Given the description of an element on the screen output the (x, y) to click on. 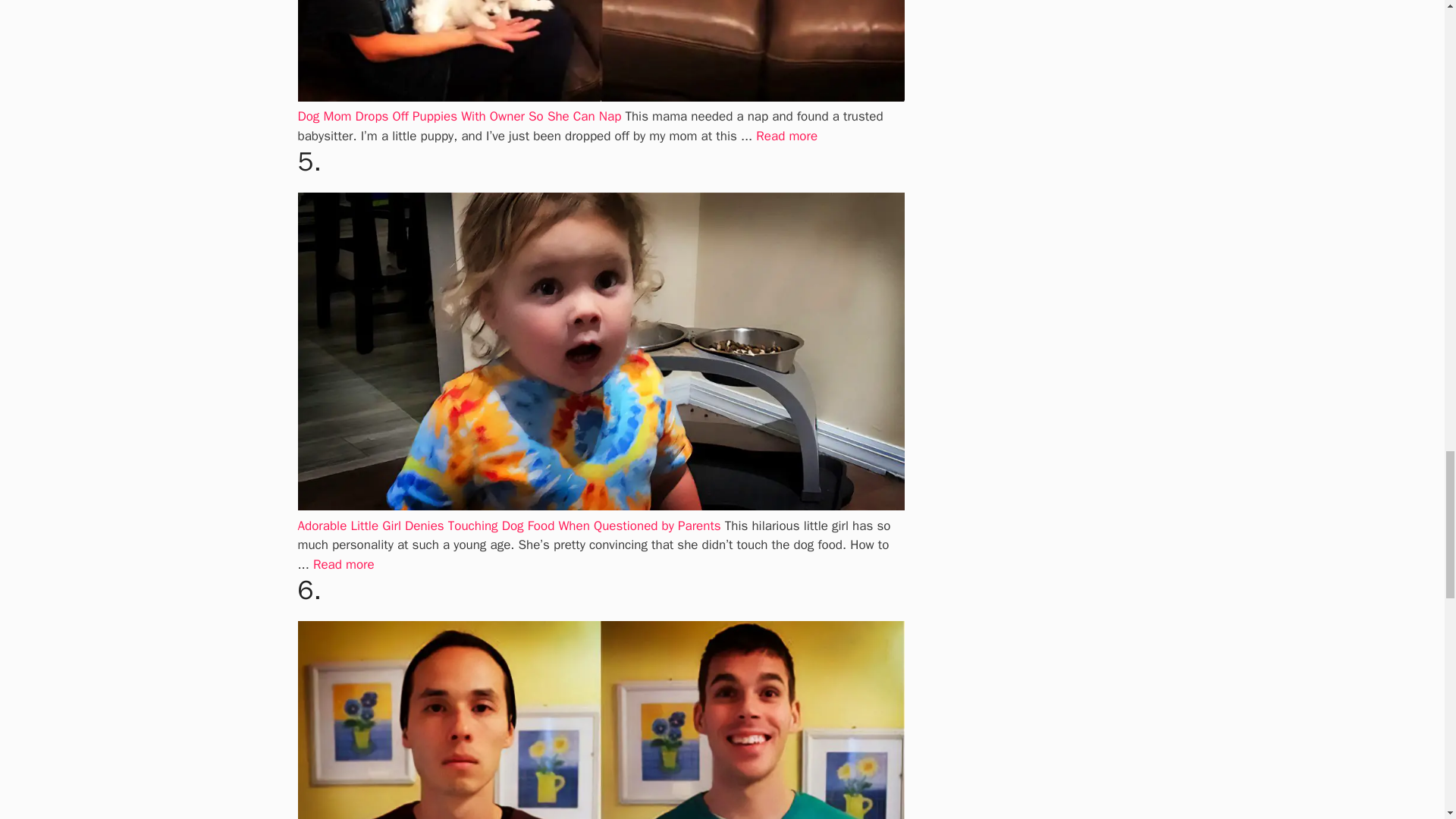
Dog Mom Drops Off Puppies With Owner So She Can Nap (459, 116)
Read more (785, 135)
Read more (343, 564)
Dog Mom Drops Off Puppies With Owner So She Can Nap (785, 135)
